Given the description of an element on the screen output the (x, y) to click on. 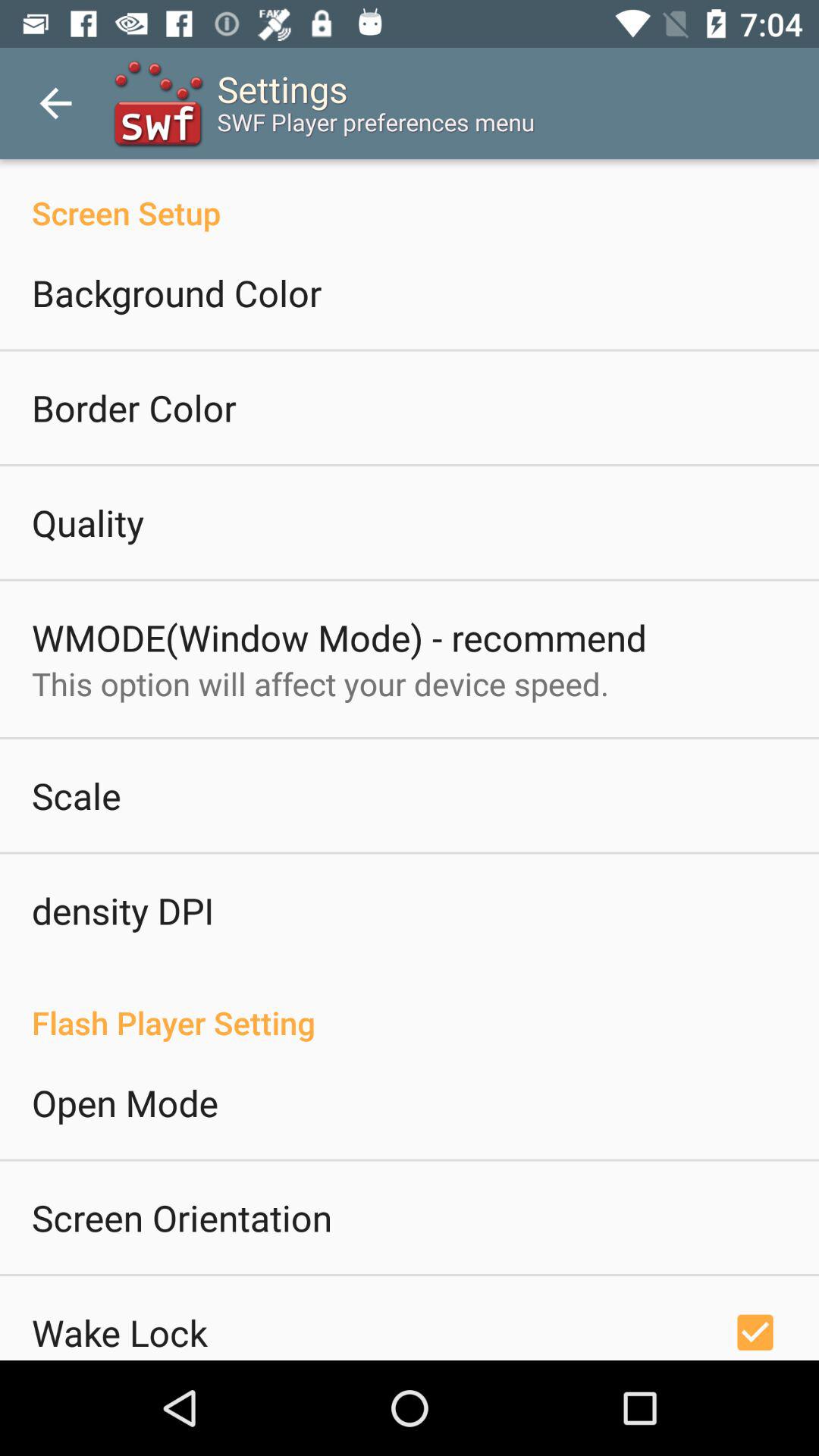
choose quality (87, 522)
